Given the description of an element on the screen output the (x, y) to click on. 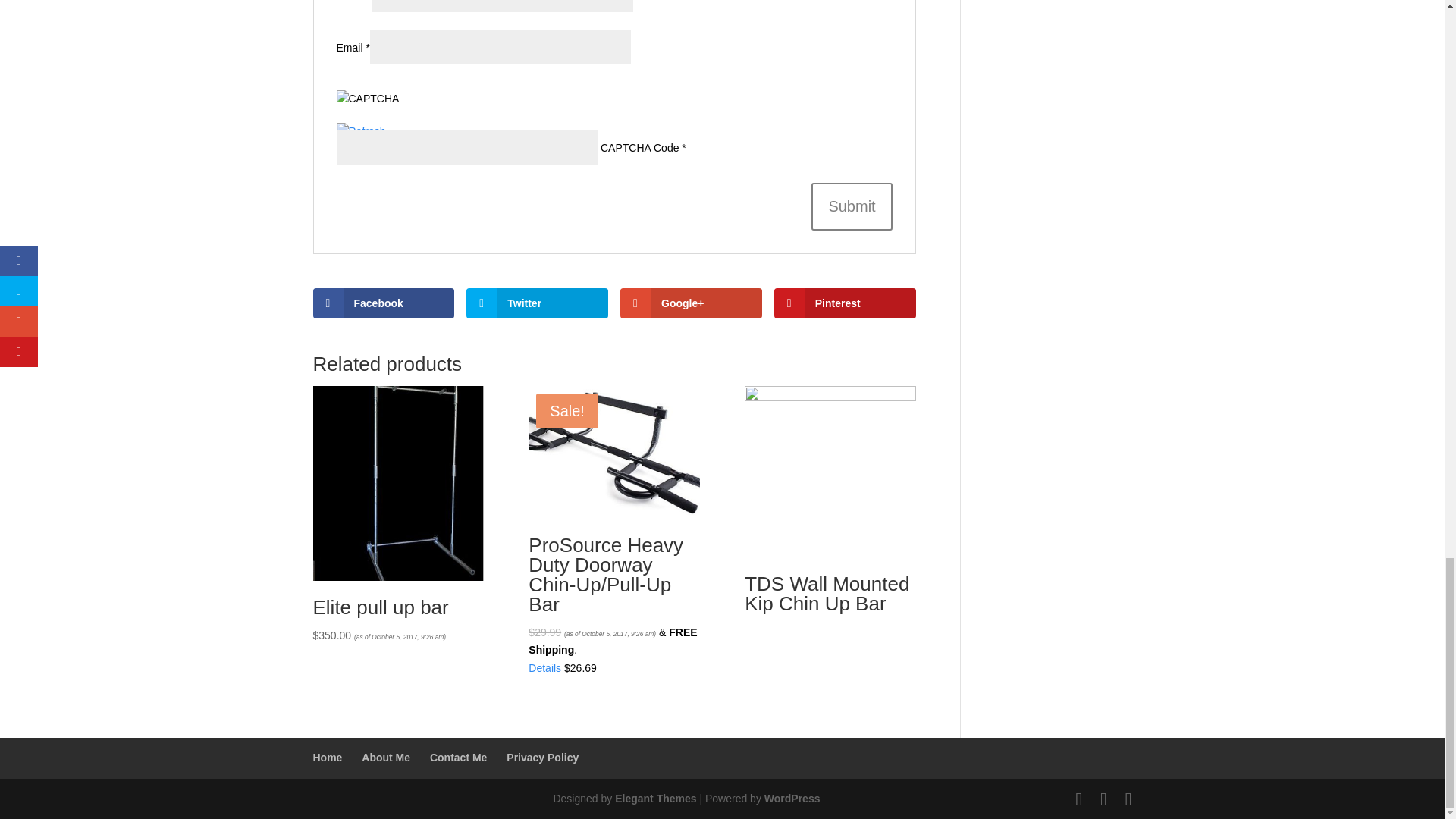
CAPTCHA (386, 106)
Premium WordPress Themes (654, 798)
Refresh (360, 131)
Submit (850, 206)
